Given the description of an element on the screen output the (x, y) to click on. 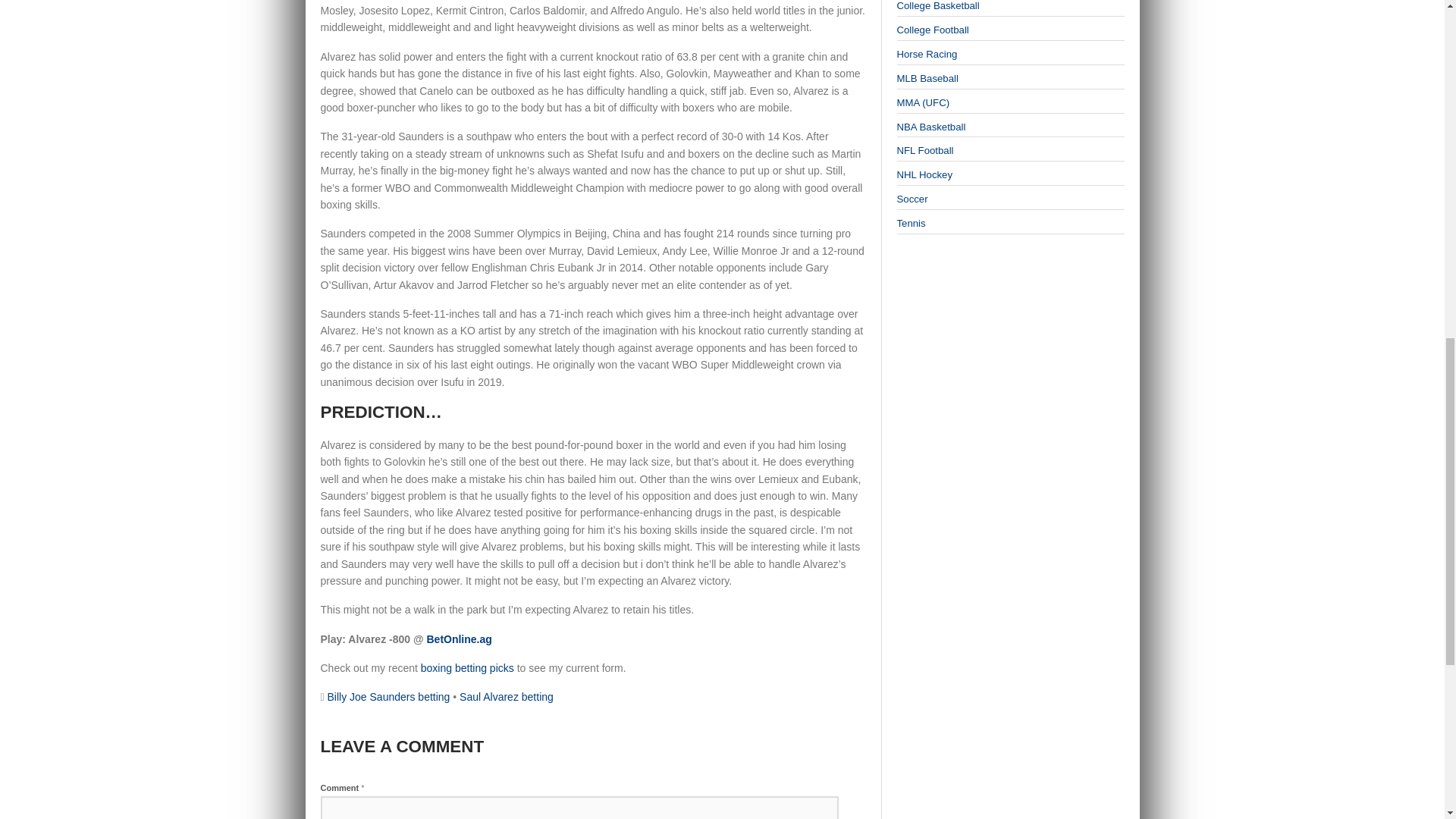
BetOnline.ag (459, 639)
NHL Betting (924, 174)
MLB Betting (927, 78)
MMA Betting (922, 102)
boxing betting picks (466, 667)
NCAA Basketball Betting (937, 5)
Horse Race Betting (926, 53)
NBA Betting (930, 126)
NFL Betting (924, 150)
NCAA Football Betting (932, 30)
